Given the description of an element on the screen output the (x, y) to click on. 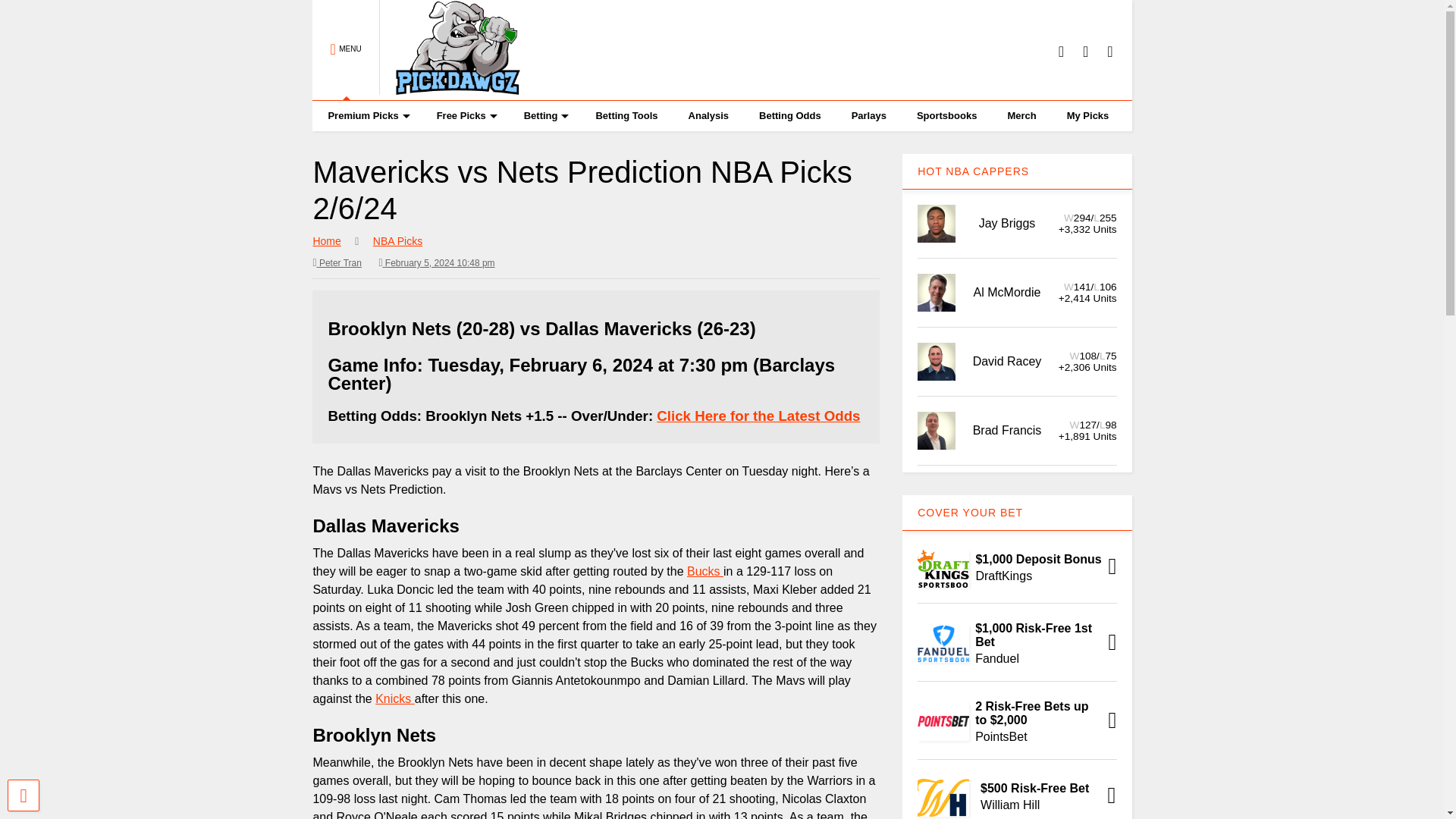
Peter Tran (337, 263)
2024-02-05T22:48:00-0500 (436, 263)
PickDawgz (449, 87)
Analysis (708, 115)
Free Picks (465, 115)
Premium Picks (366, 115)
MENU (345, 49)
Betting Tools (625, 115)
Betting (544, 115)
